Given the description of an element on the screen output the (x, y) to click on. 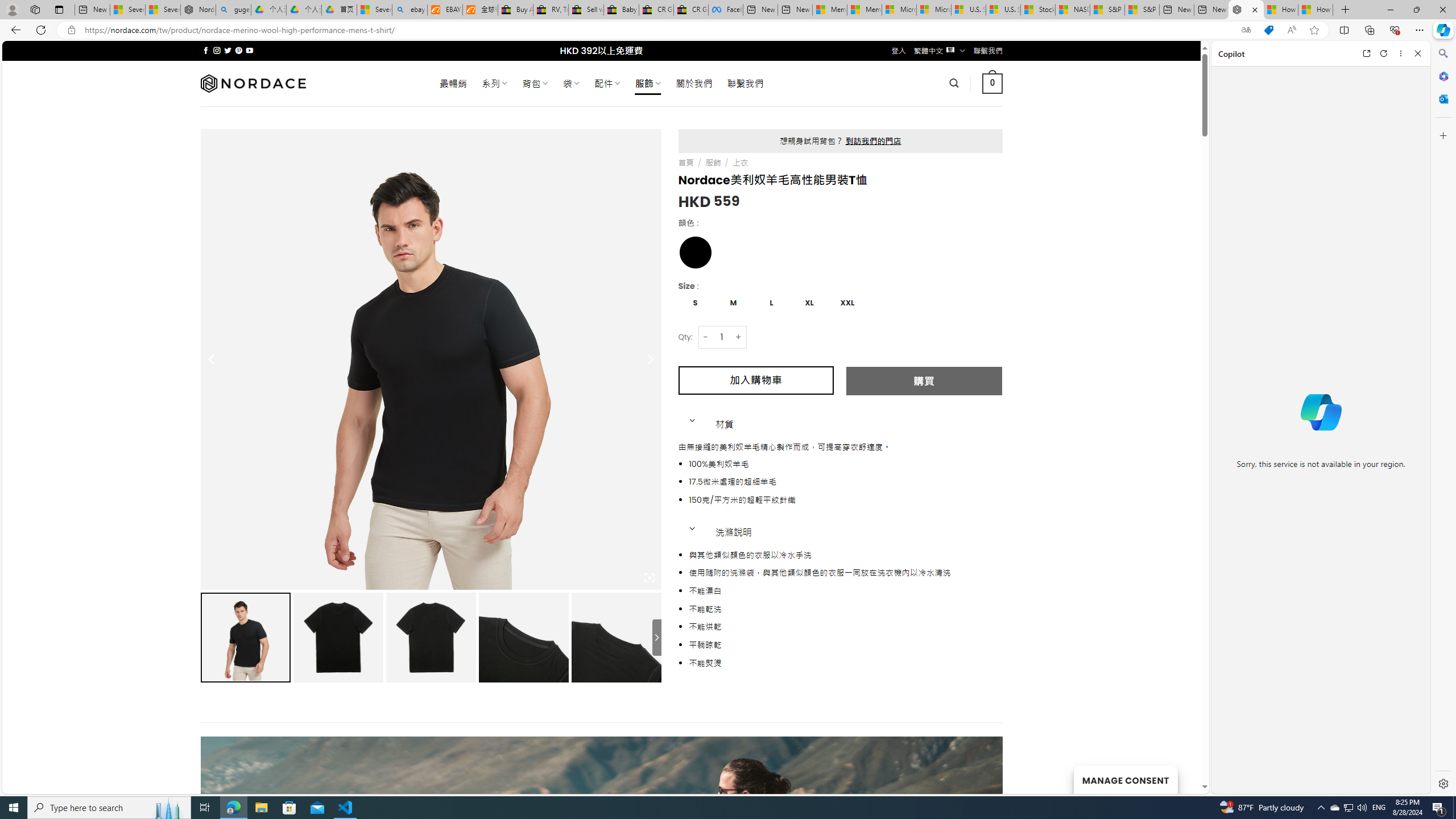
Customize (1442, 135)
Baby Keepsakes & Announcements for sale | eBay (620, 9)
S&P 500, Nasdaq end lower, weighed by Nvidia dip | Watch (1141, 9)
+ (738, 336)
App bar (728, 29)
Side bar (1443, 418)
